Given the description of an element on the screen output the (x, y) to click on. 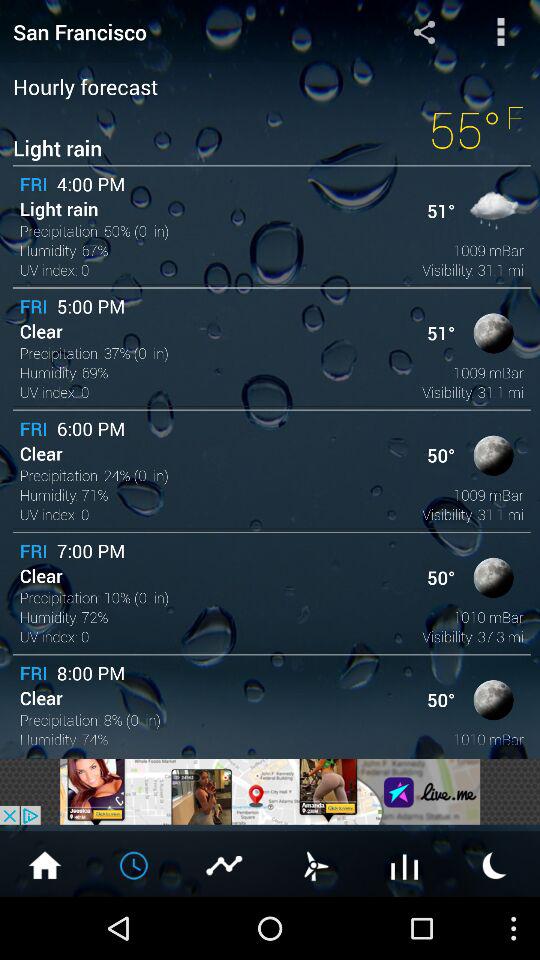
click the item next to san francisco icon (424, 31)
